Given the description of an element on the screen output the (x, y) to click on. 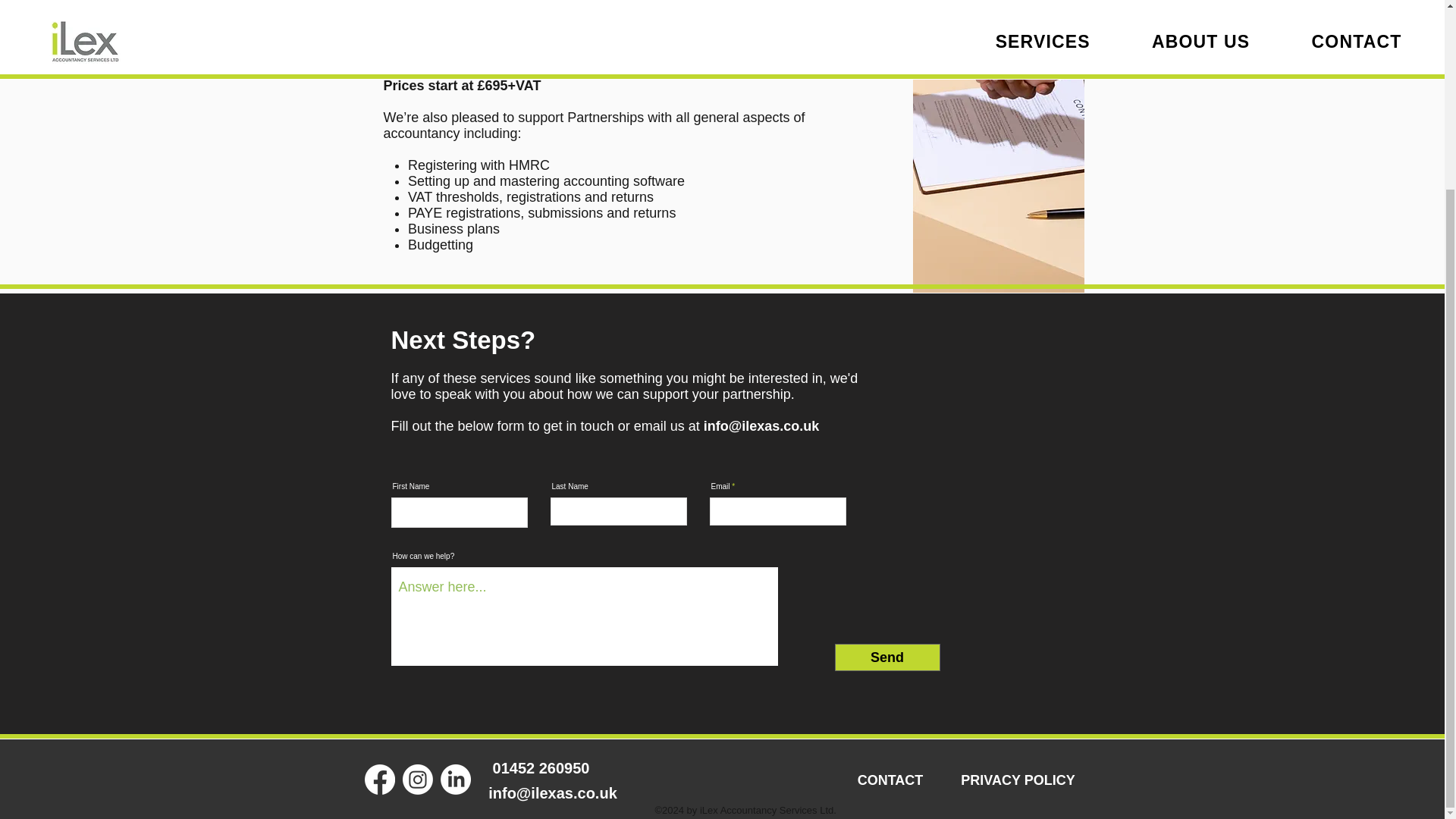
01452 260950 (541, 768)
CONTACT (890, 773)
PRIVACY POLICY (1017, 773)
Send (886, 656)
